Given the description of an element on the screen output the (x, y) to click on. 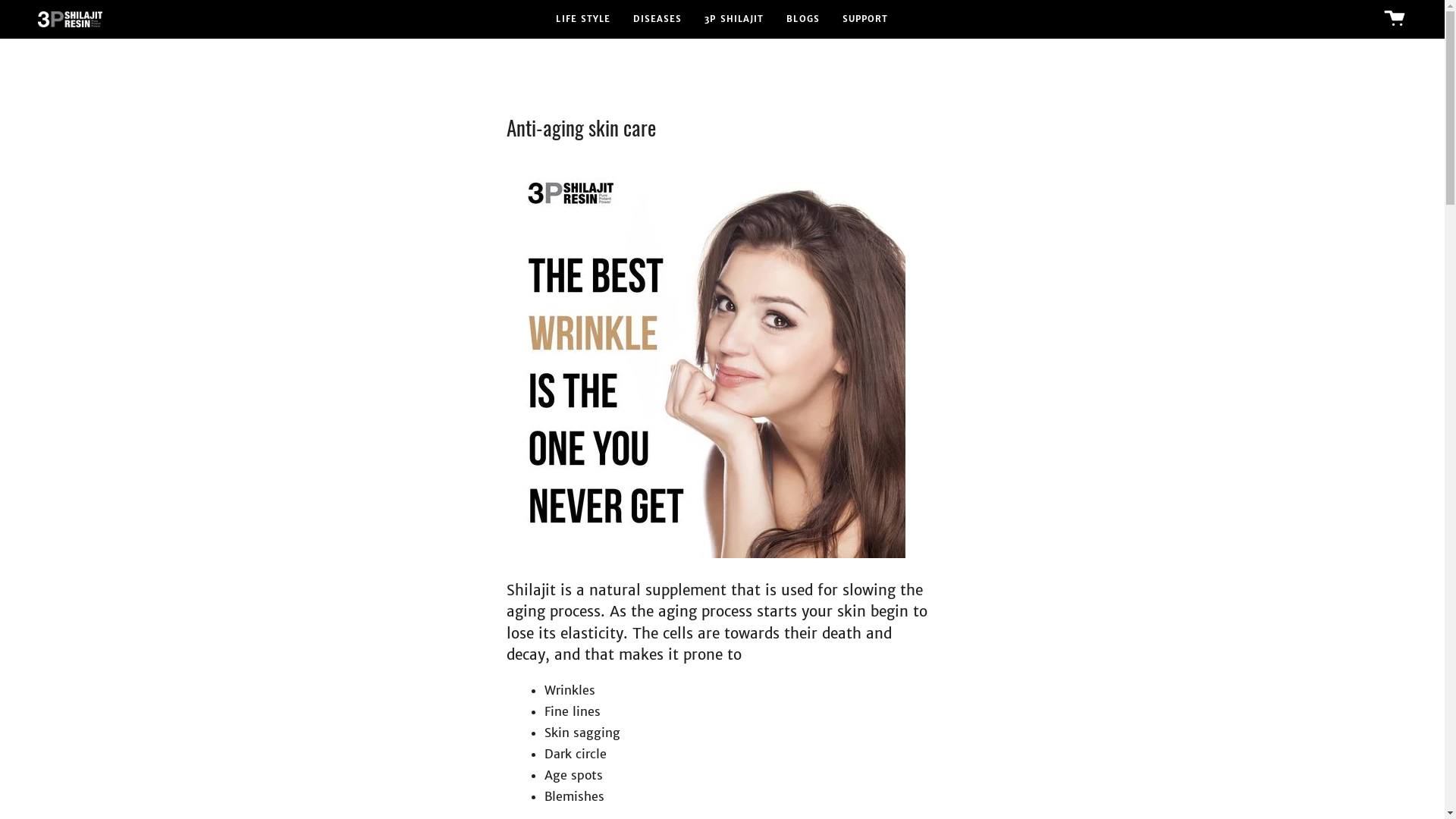
DISEASES Element type: text (657, 19)
BLOGS Element type: text (803, 19)
3P SHILAJIT Element type: text (734, 19)
LIFE STYLE Element type: text (582, 19)
SUPPORT Element type: text (865, 19)
Cart Element type: text (1394, 19)
